Given the description of an element on the screen output the (x, y) to click on. 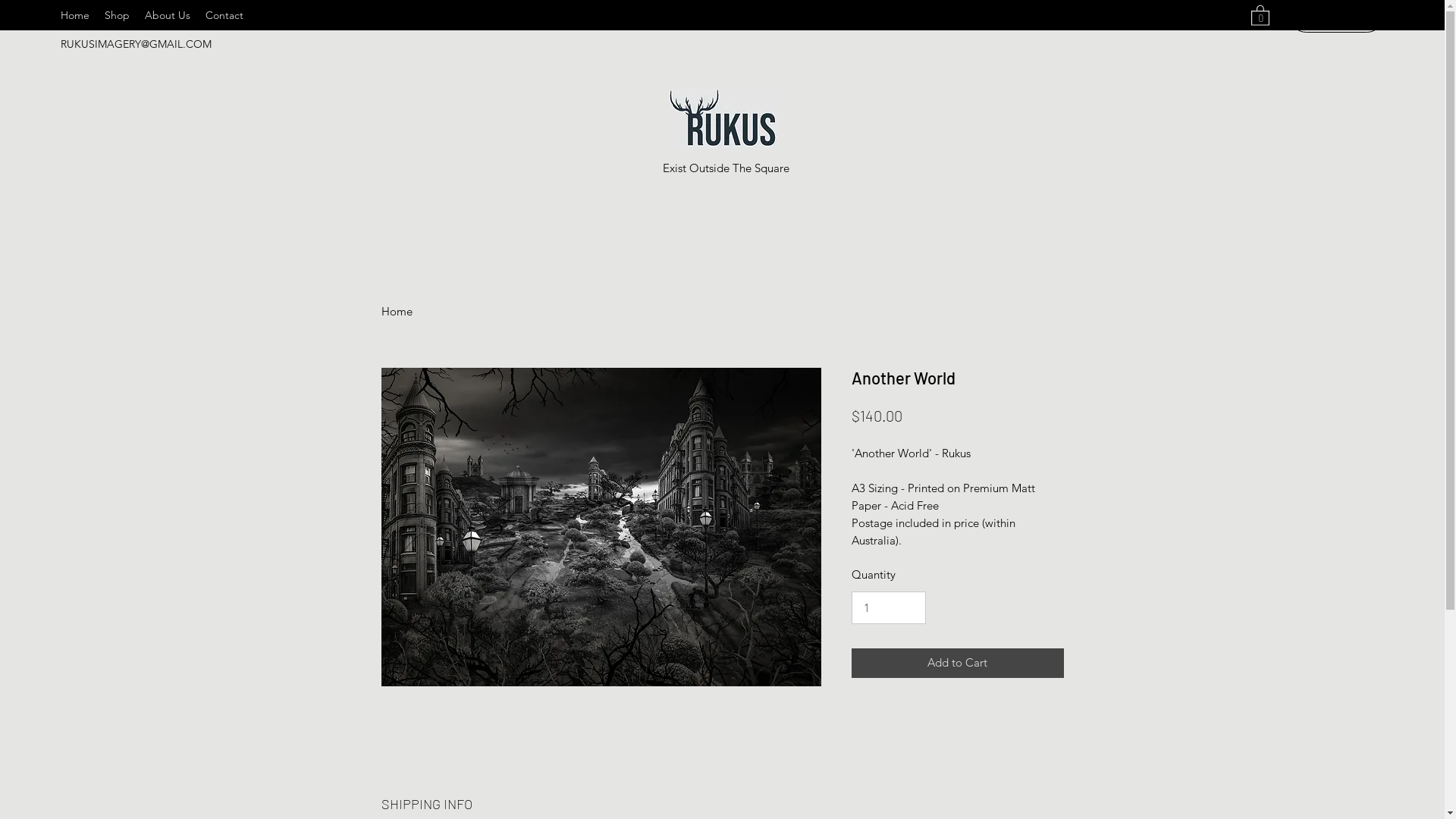
Shop Element type: text (117, 14)
About Us Element type: text (167, 14)
Home Element type: text (395, 311)
Contact Element type: text (224, 14)
RUKUSIMAGERY@GMAIL.COM Element type: text (135, 43)
0 Element type: text (1260, 14)
Add to Cart Element type: text (956, 662)
Home Element type: text (75, 14)
